Given the description of an element on the screen output the (x, y) to click on. 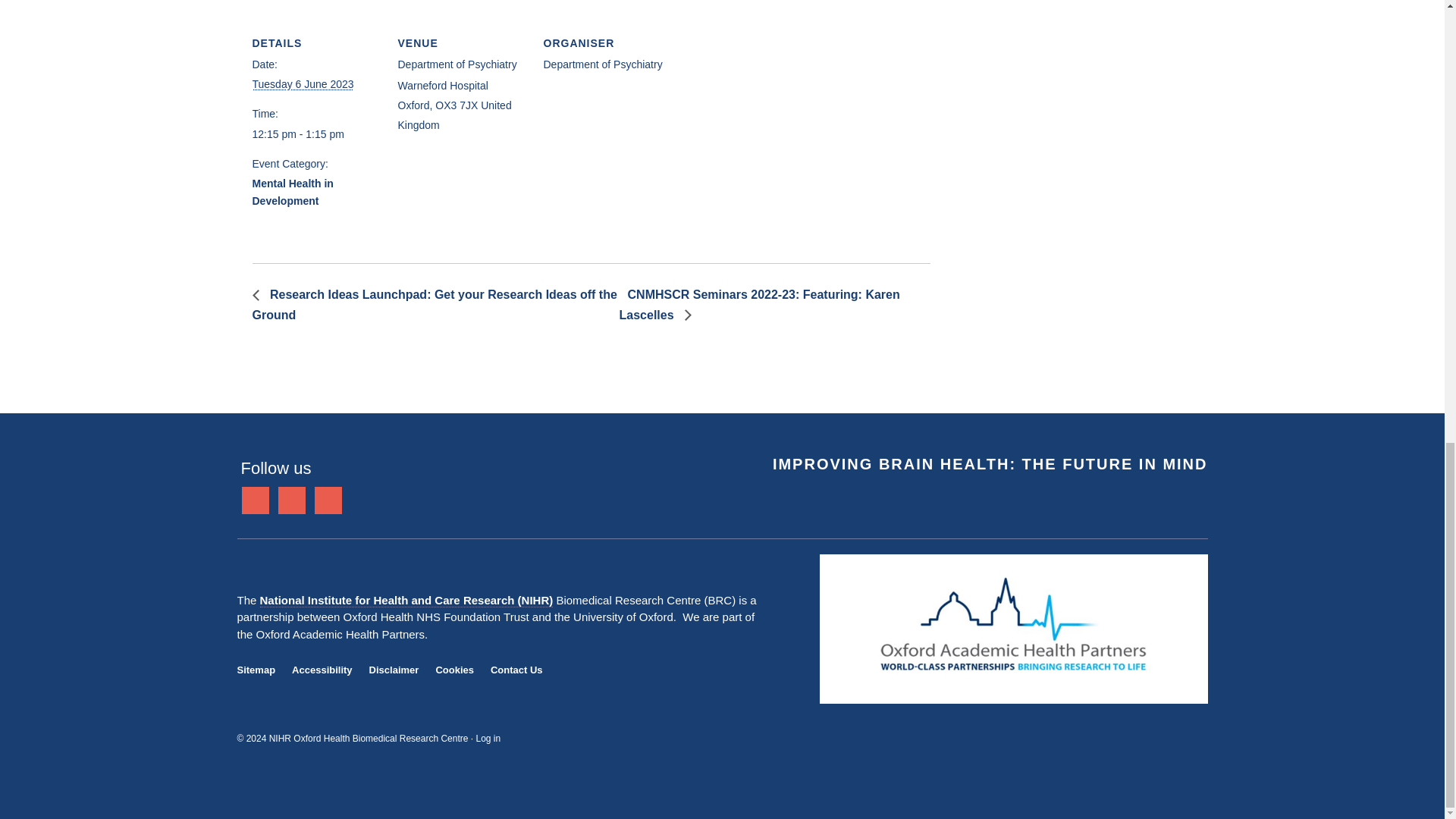
2023-06-06 (314, 134)
2023-06-06 (302, 83)
